Given the description of an element on the screen output the (x, y) to click on. 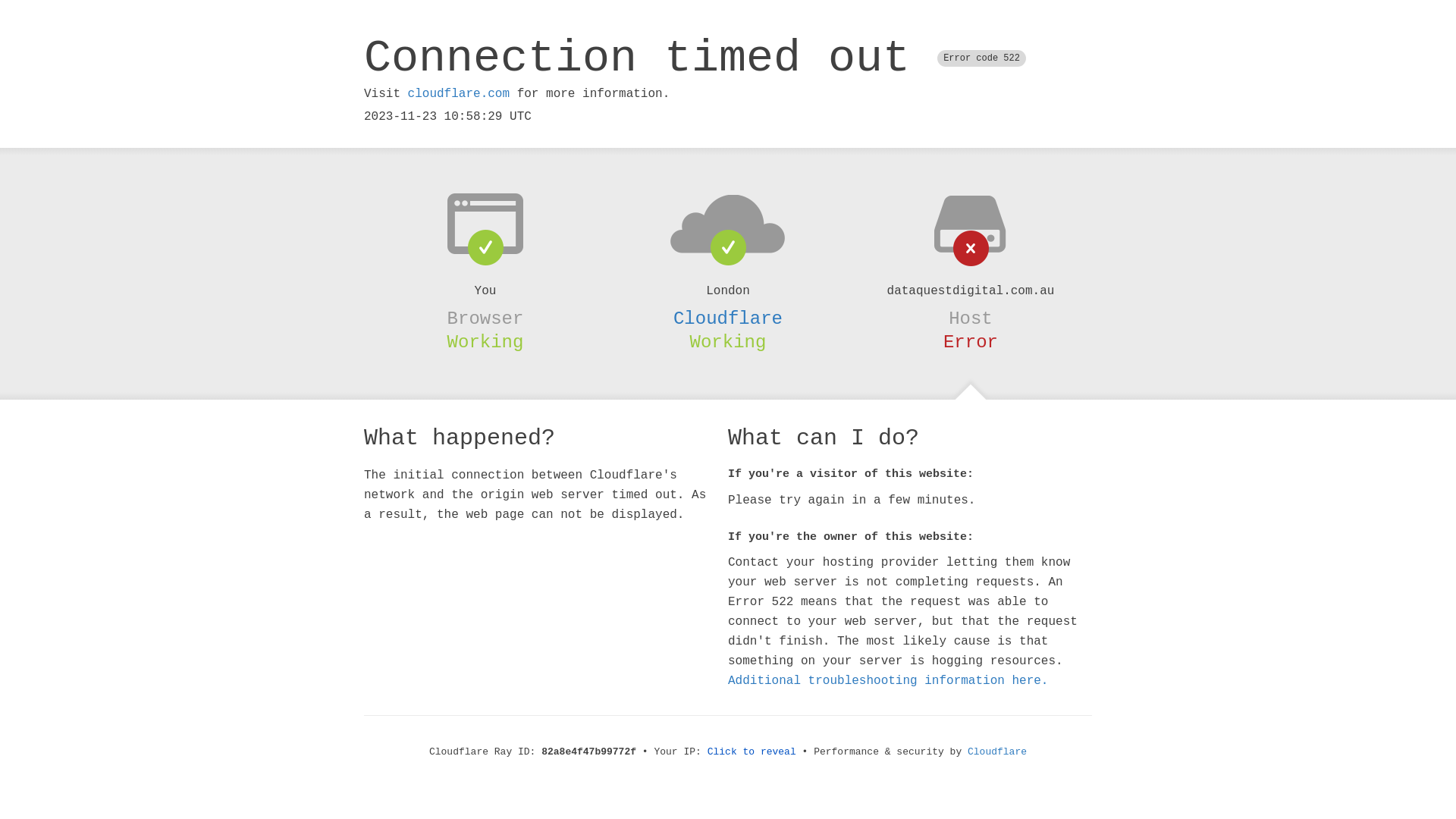
Click to reveal Element type: text (751, 751)
cloudflare.com Element type: text (458, 93)
Additional troubleshooting information here. Element type: text (888, 680)
Cloudflare Element type: text (996, 751)
Cloudflare Element type: text (727, 318)
